Given the description of an element on the screen output the (x, y) to click on. 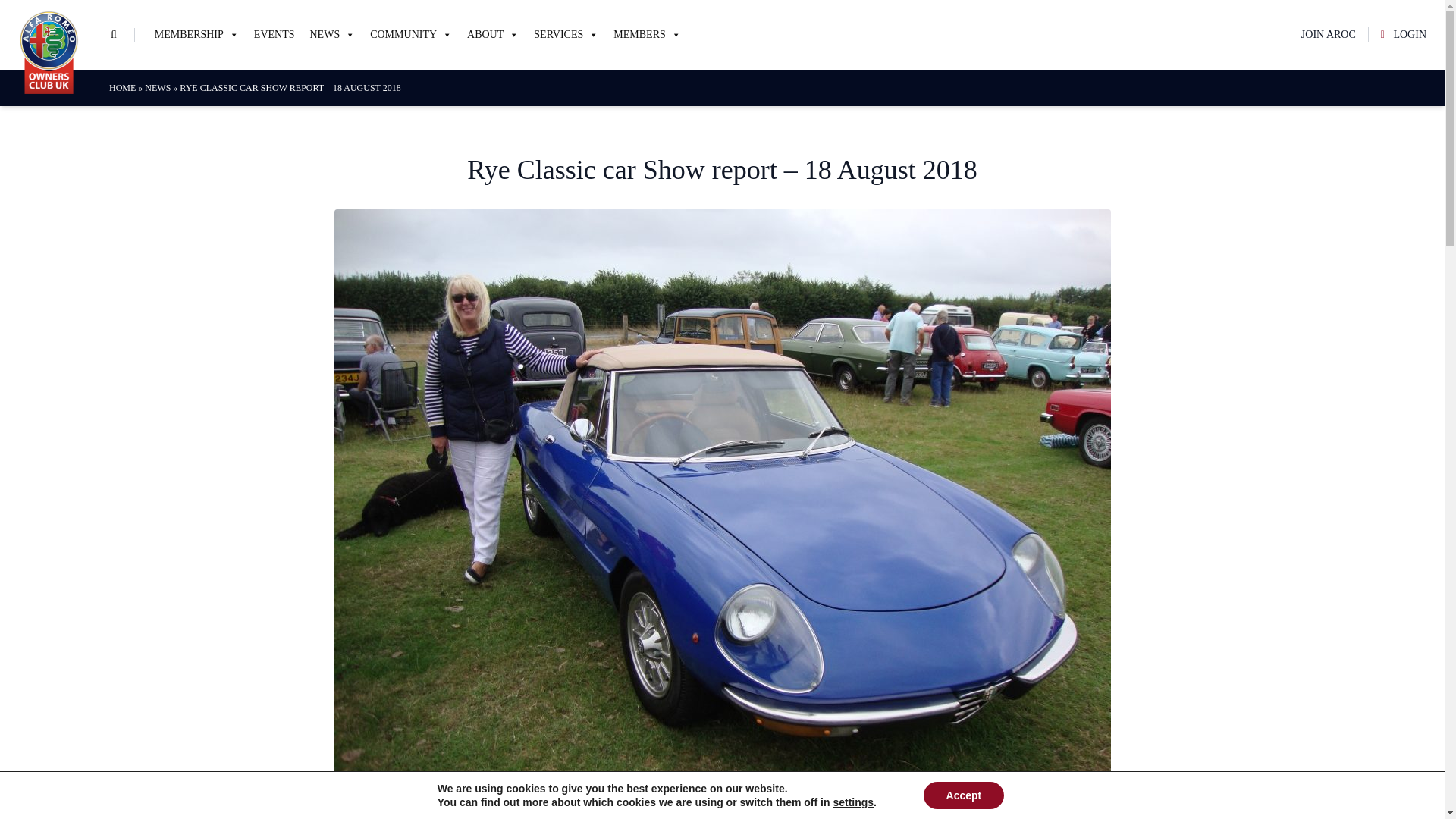
MEMBERSHIP (196, 34)
Login (435, 555)
SERVICES (565, 34)
ABOUT (492, 34)
COMMUNITY (411, 34)
Search (32, 13)
